Given the description of an element on the screen output the (x, y) to click on. 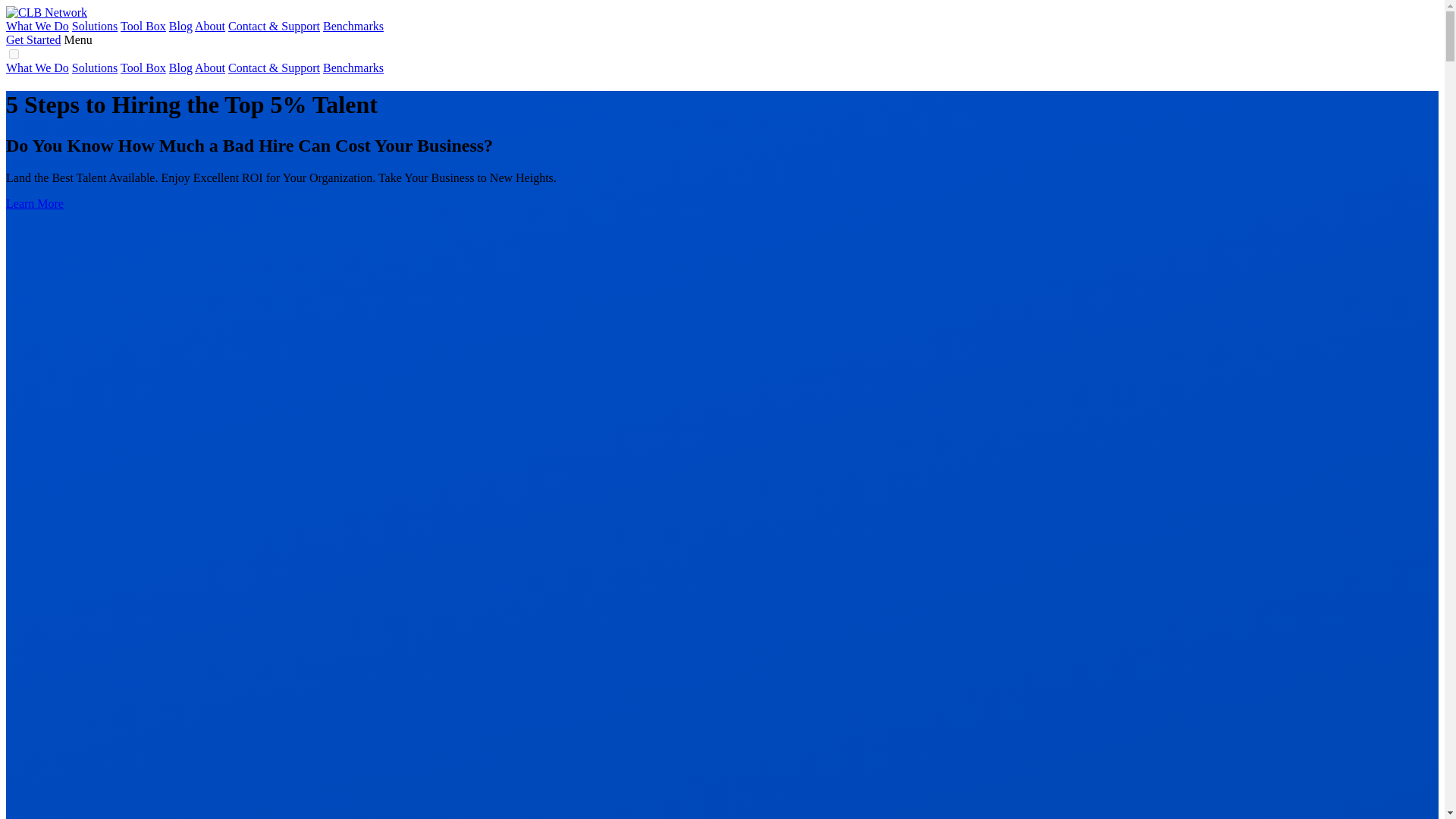
Solutions (94, 25)
Blog (180, 25)
About (210, 25)
Blog (180, 67)
on (13, 53)
homepage (46, 11)
Solutions (94, 67)
Tool Box (142, 67)
Benchmarks (353, 67)
What We Do (36, 67)
What We Do (36, 25)
Get Started (33, 39)
Benchmarks (353, 25)
Tool Box (142, 25)
